Given the description of an element on the screen output the (x, y) to click on. 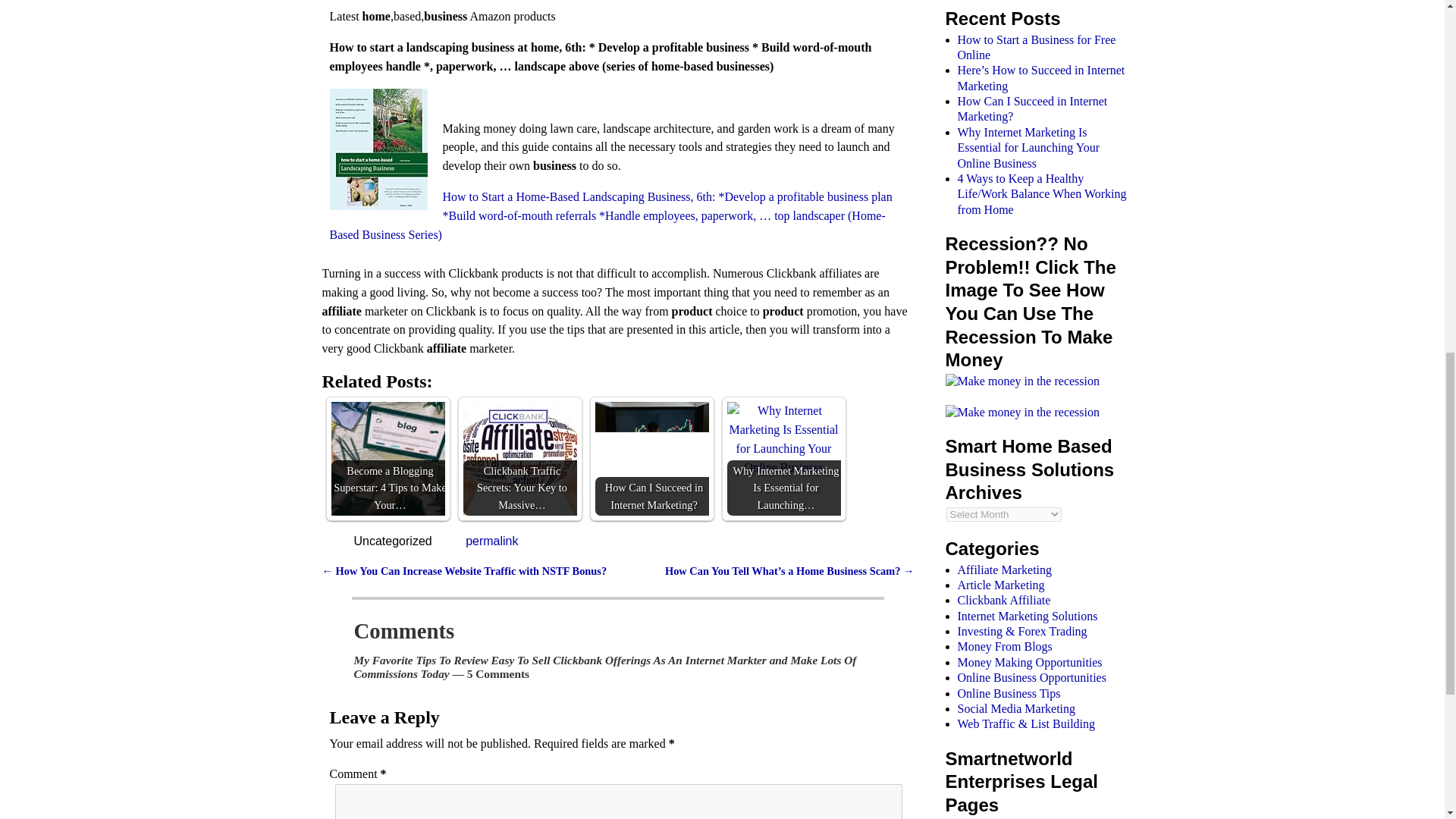
How Can I Succeed in Internet Marketing? (650, 439)
How Can I Succeed in Internet Marketing? (650, 458)
permalink (491, 540)
